Given the description of an element on the screen output the (x, y) to click on. 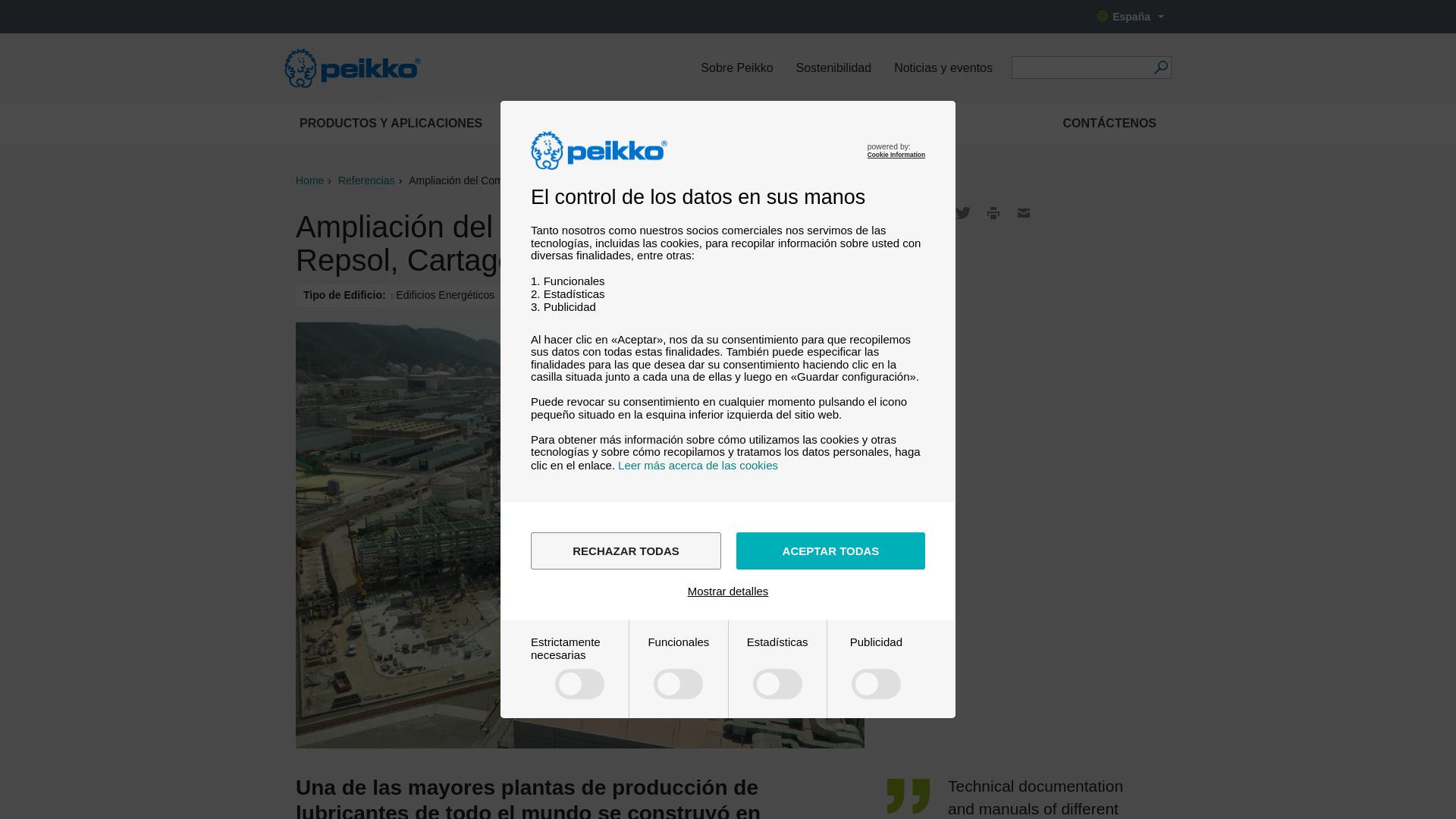
Mostrar detalles (727, 590)
Email link (1023, 212)
RECHAZAR TODAS (625, 550)
ACEPTAR TODAS (830, 550)
Cookie Information (895, 154)
